Given the description of an element on the screen output the (x, y) to click on. 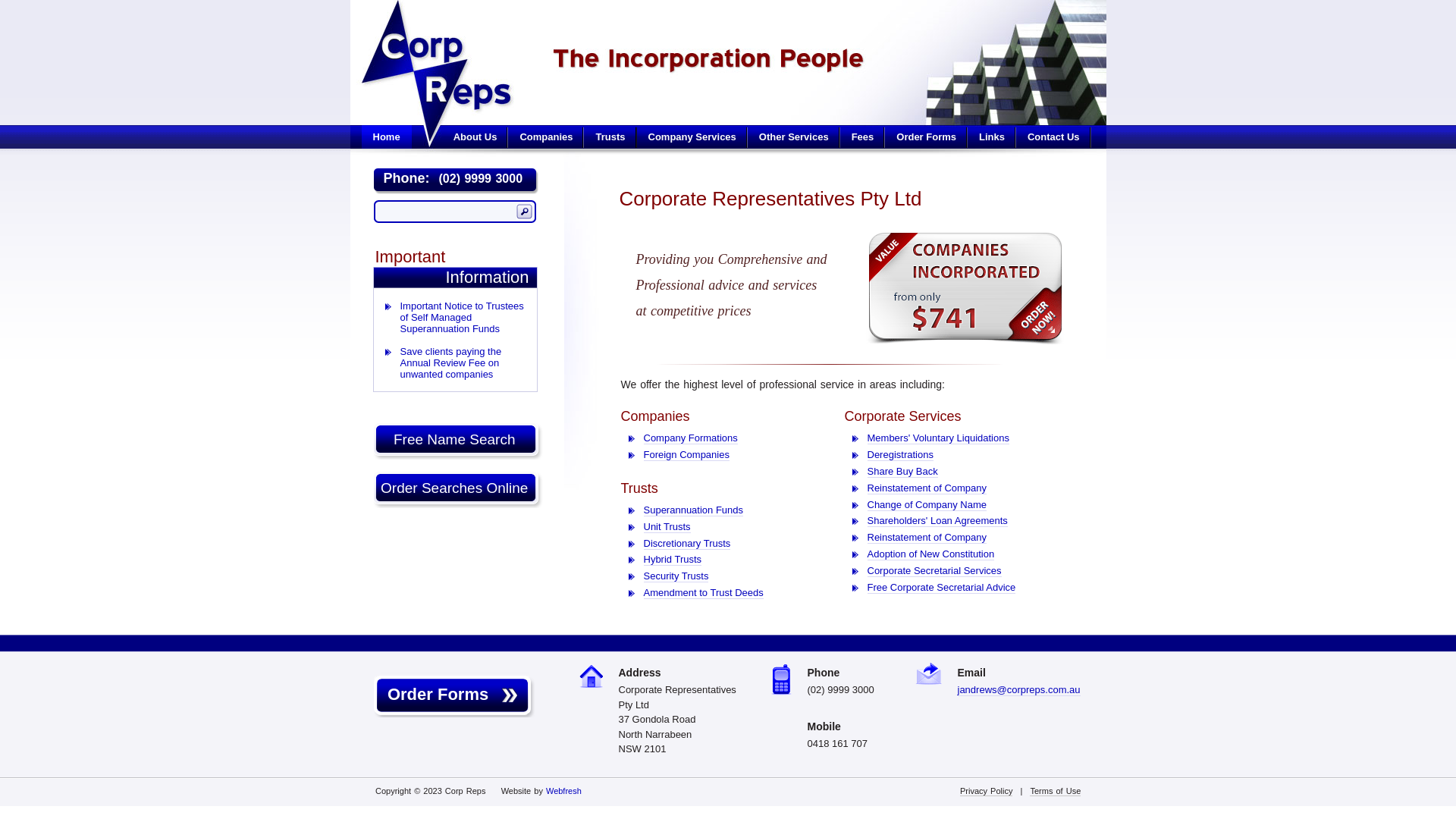
Change of Company Name Element type: text (927, 504)
Adoption of New Constitution Element type: text (930, 554)
Contact Us Element type: text (1053, 136)
Reinstatement of Company Element type: text (927, 488)
Shareholders' Loan Agreements Element type: text (937, 520)
Company Formations Element type: text (690, 438)
Other Services Element type: text (793, 136)
Privacy Policy Element type: text (986, 791)
Search our site... Element type: hover (446, 211)
Members' Voluntary Liquidations Element type: text (938, 438)
Companies Element type: text (545, 136)
Amendment to Trust Deeds Element type: text (702, 592)
Free Name Search   Element type: text (458, 440)
Free Corporate Secretarial Advice Element type: text (941, 587)
Hybrid Trusts Element type: text (672, 559)
Order Searches Online   Element type: text (458, 489)
Trusts Element type: text (609, 136)
Home Element type: text (385, 136)
Superannuation Funds Element type: text (693, 510)
Reinstatement of Company Element type: text (927, 537)
Links Element type: text (991, 136)
Fees Element type: text (862, 136)
Deregistrations Element type: text (900, 454)
Foreign Companies Element type: text (685, 454)
Security Trusts Element type: text (675, 576)
Order Forms Element type: text (925, 136)
jandrews@corpreps.com.au Element type: text (1018, 690)
Share Buy Back Element type: text (902, 471)
Terms of Use Element type: text (1054, 791)
Corporate Secretarial Services Element type: text (934, 570)
Discretionary Trusts Element type: text (686, 543)
Company Services Element type: text (692, 136)
Webfresh Element type: text (563, 790)
About Us Element type: text (475, 136)
    Order Forms Element type: text (450, 694)
Unit Trusts Element type: text (666, 526)
Search Element type: text (523, 211)
